Given the description of an element on the screen output the (x, y) to click on. 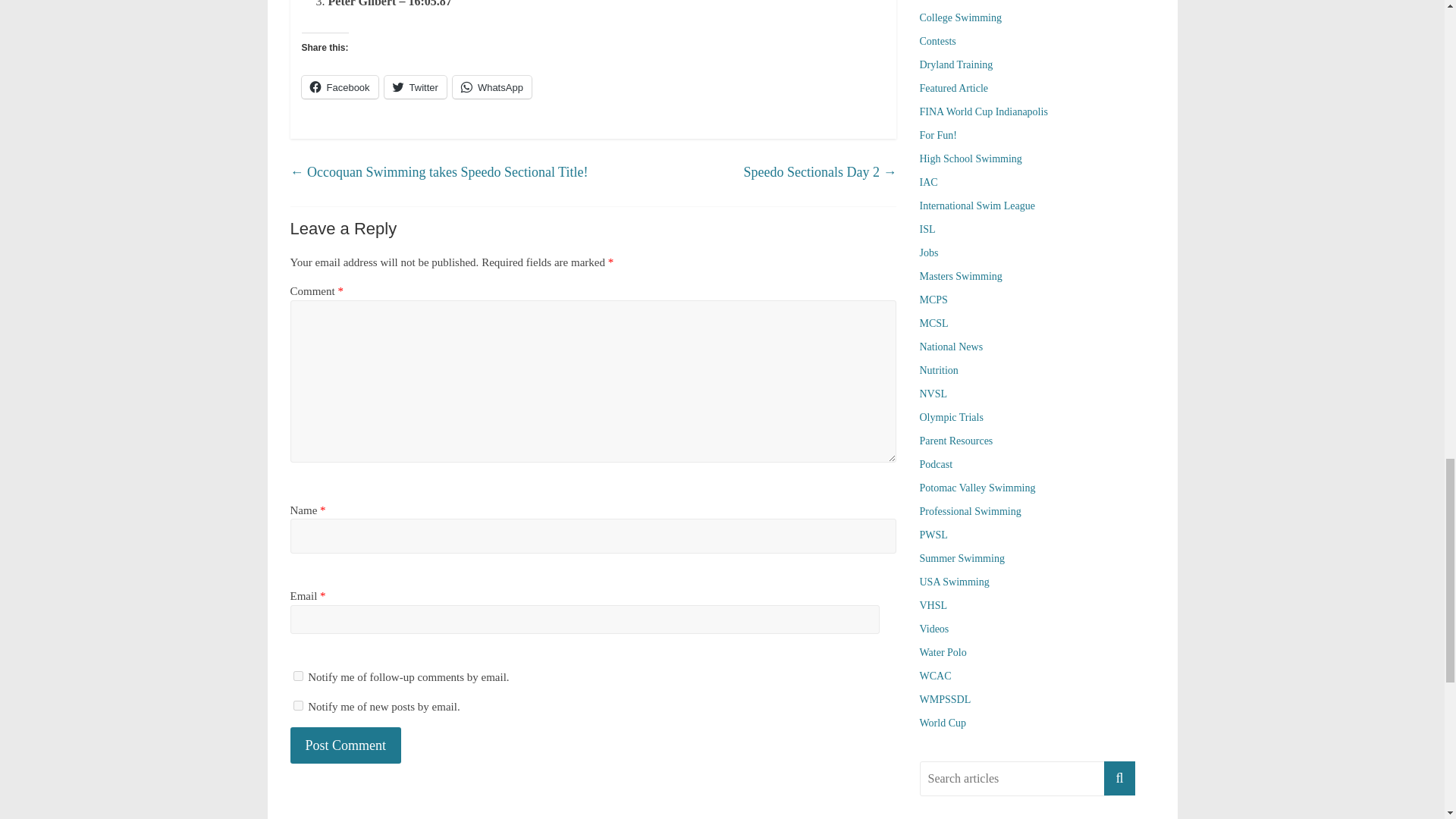
Contests (936, 41)
WhatsApp (491, 87)
Click to share on WhatsApp (491, 87)
subscribe (297, 705)
Click to share on Facebook (339, 87)
Post Comment (345, 745)
subscribe (297, 675)
Click to share on Twitter (415, 87)
Twitter (415, 87)
Facebook (339, 87)
